Given the description of an element on the screen output the (x, y) to click on. 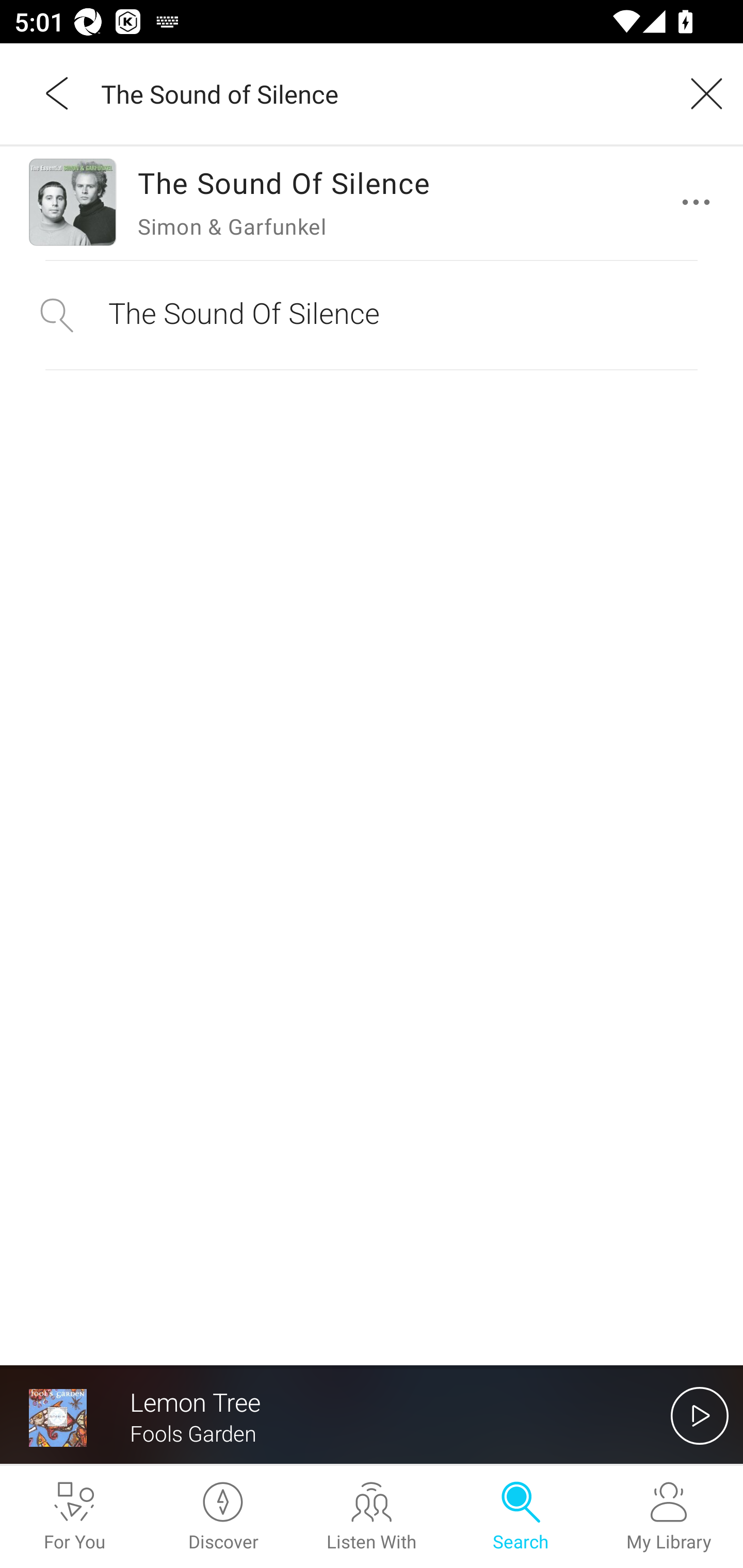
The Sound of Silence (378, 92)
Clear query (699, 92)
Back,outside of the list (57, 93)
更多操作選項 (699, 202)
The Sound Of Silence (371, 315)
開始播放 (699, 1415)
For You (74, 1517)
Discover (222, 1517)
Listen With (371, 1517)
Search (519, 1517)
My Library (668, 1517)
